Given the description of an element on the screen output the (x, y) to click on. 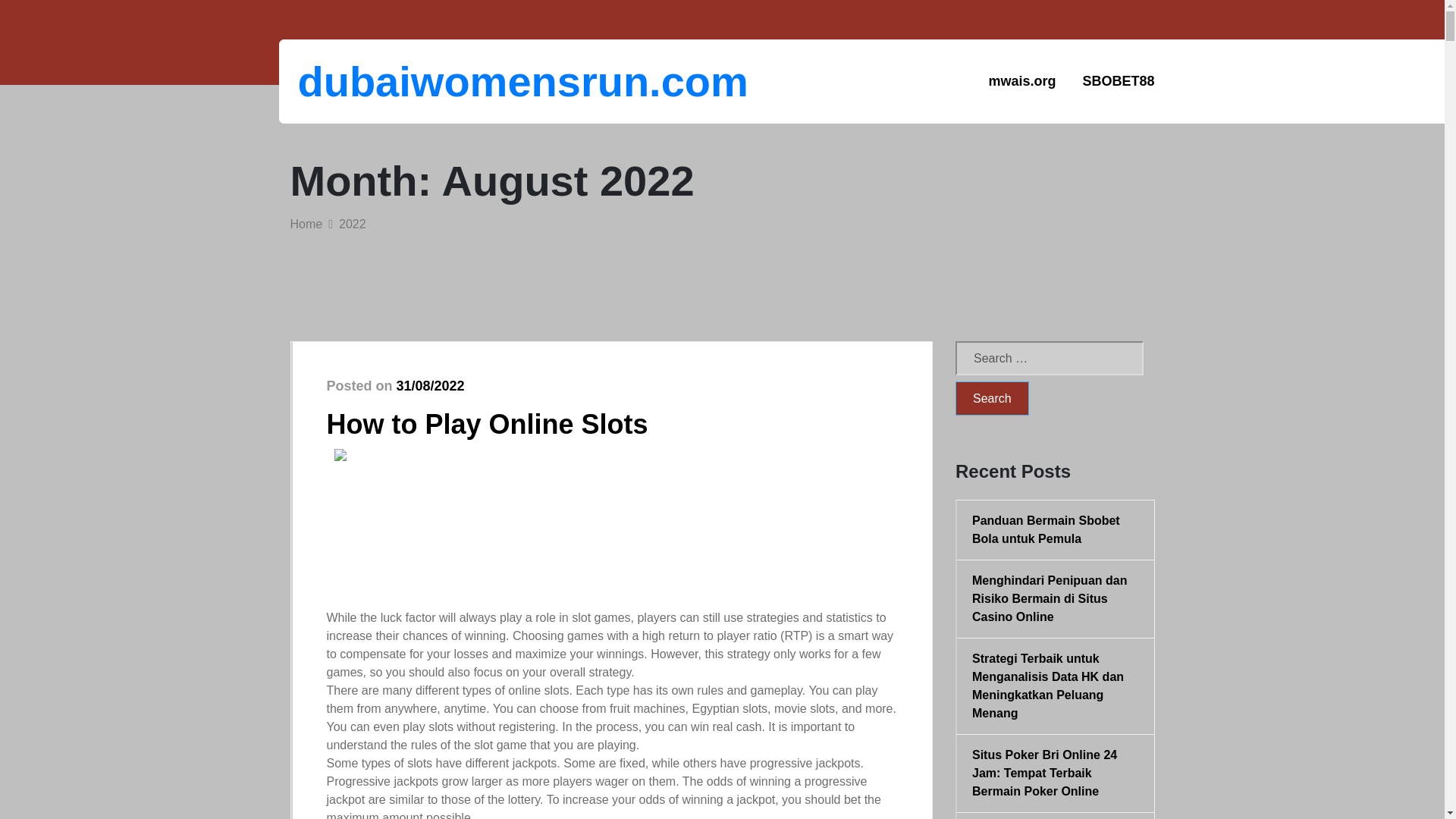
SBOBET88 (1117, 81)
mwais.org (1021, 81)
Search (992, 398)
mwais.org (1021, 81)
SBOBET88 (1117, 81)
How to Play Online Slots (486, 423)
Search (992, 398)
dubaiwomensrun.com (376, 81)
Home (305, 223)
2022 (352, 223)
